Given the description of an element on the screen output the (x, y) to click on. 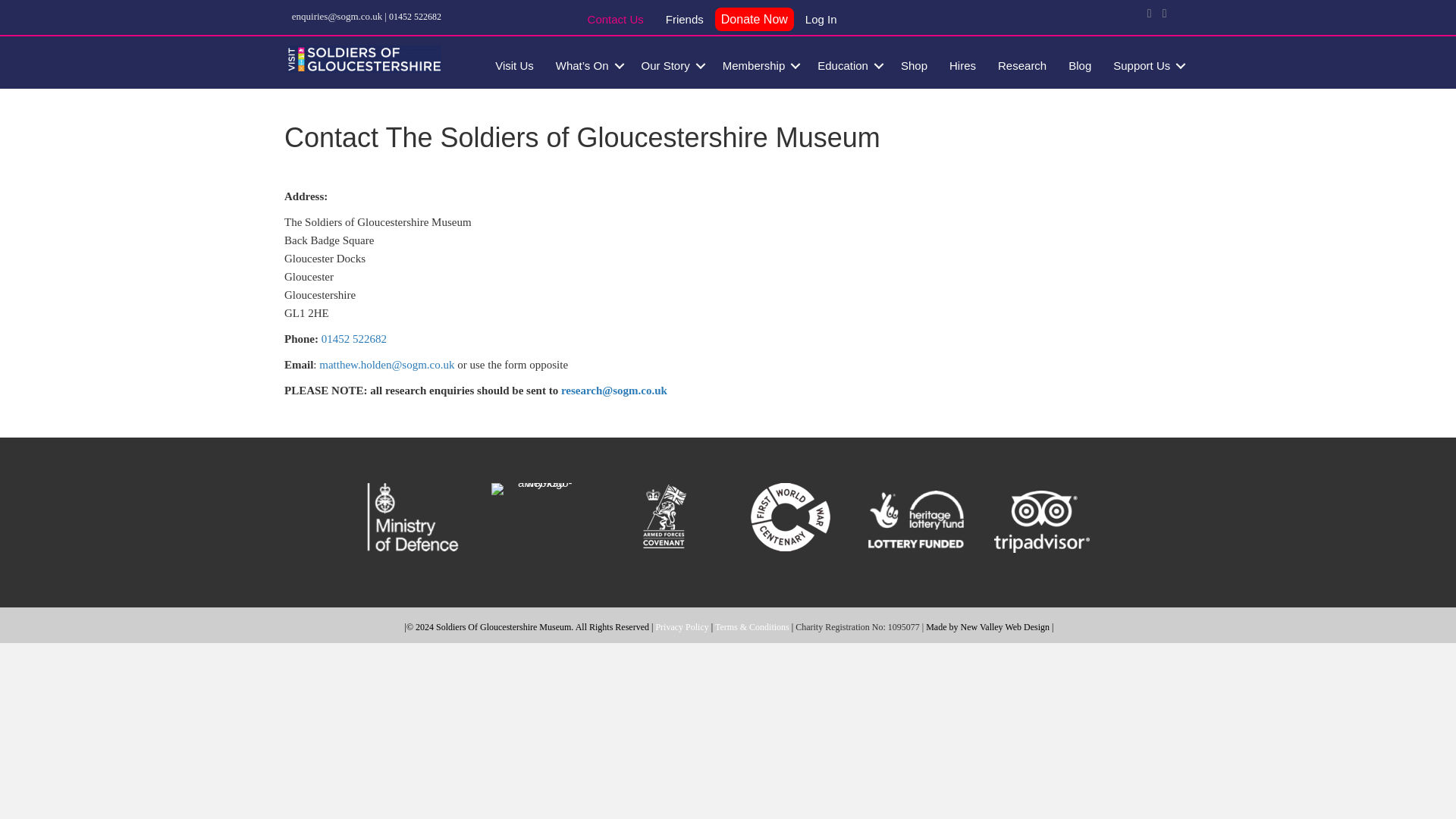
Friends (684, 21)
Visit Us (514, 65)
Log In (820, 21)
army-logo-webx90 (539, 489)
warfirstworld-webx90 (789, 517)
Donate Now (753, 19)
Contact Us (614, 21)
